Given the description of an element on the screen output the (x, y) to click on. 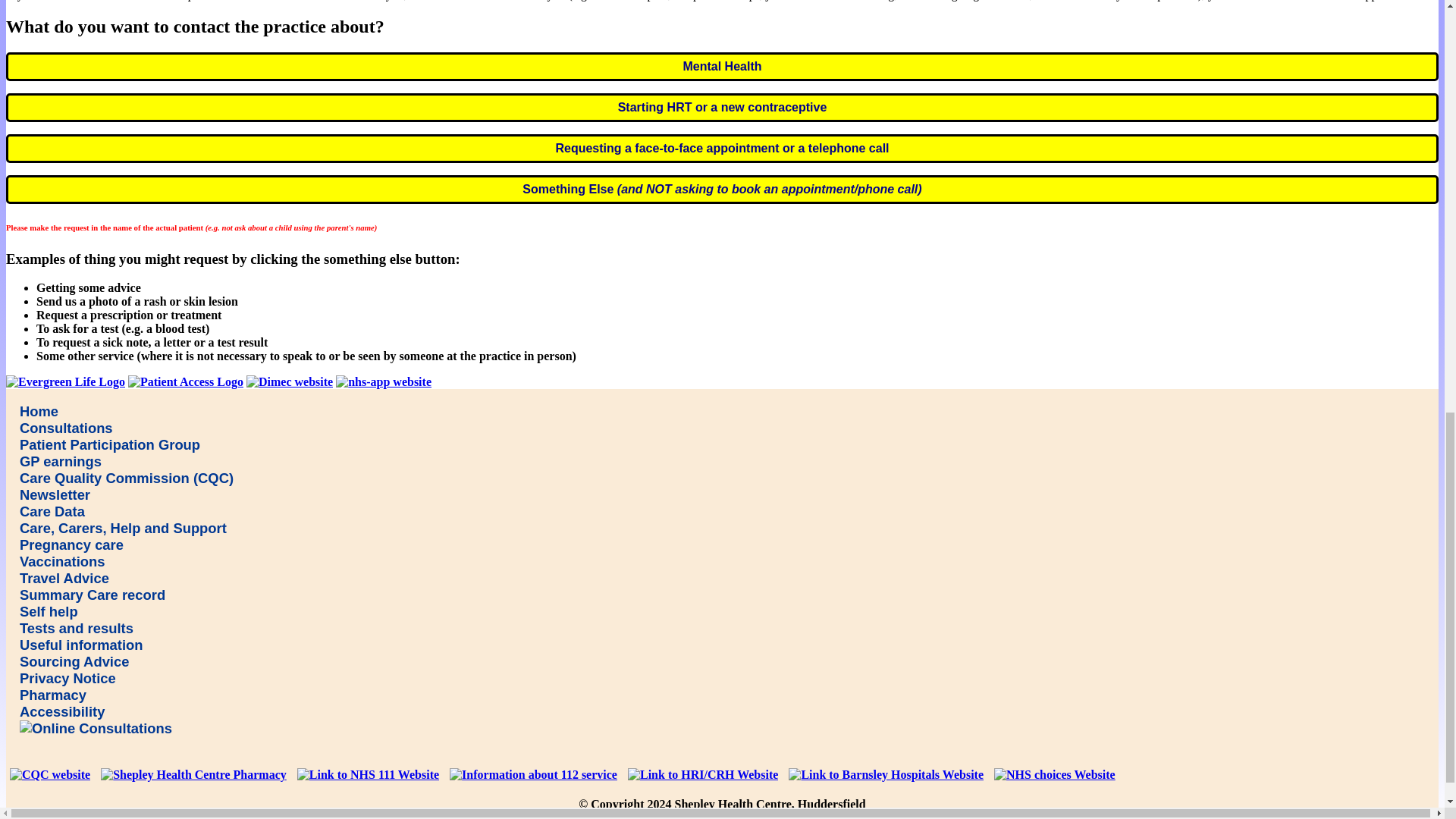
Emergency number from all phones everywhere in the world (533, 774)
Online Consultations (95, 728)
The Care Quality Commission (49, 774)
Click here for EMIS Patient Access (185, 382)
NHS 111 (368, 774)
Shepley Health Centre Pharmacy (193, 774)
Click here for nhs-app website (383, 382)
Click here for Evergreen Life Online Access (65, 382)
Click here for Dimec website (289, 382)
Huddersfield and Calderdale Hospitals (702, 774)
